Given the description of an element on the screen output the (x, y) to click on. 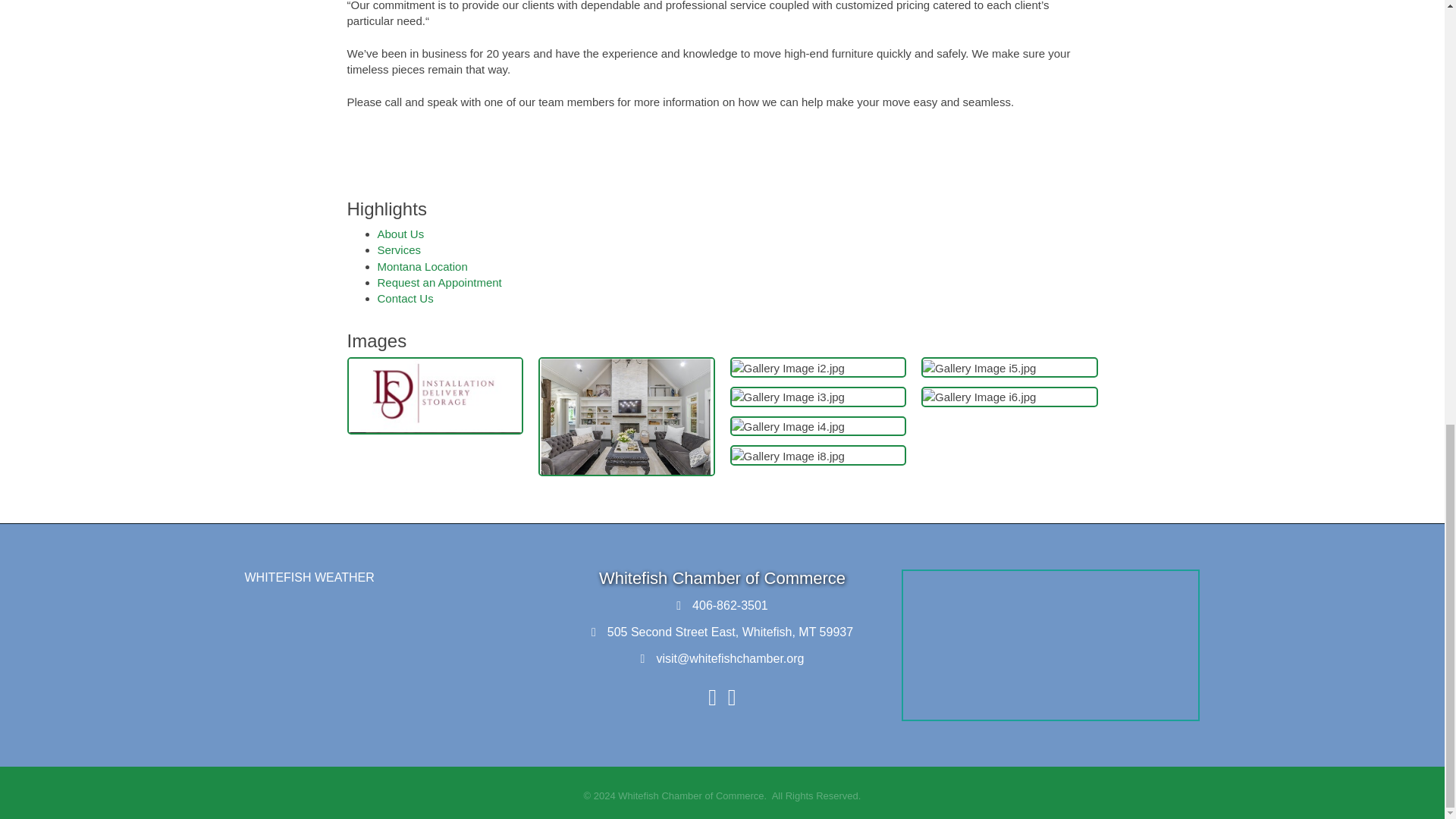
Gallery Image i2.jpg (787, 367)
Gallery Image i4.jpg (787, 426)
Gallery Image i1.jpg (626, 416)
Gallery Image ids.jpg (435, 395)
Gallery Image i3.jpg (787, 396)
